Given the description of an element on the screen output the (x, y) to click on. 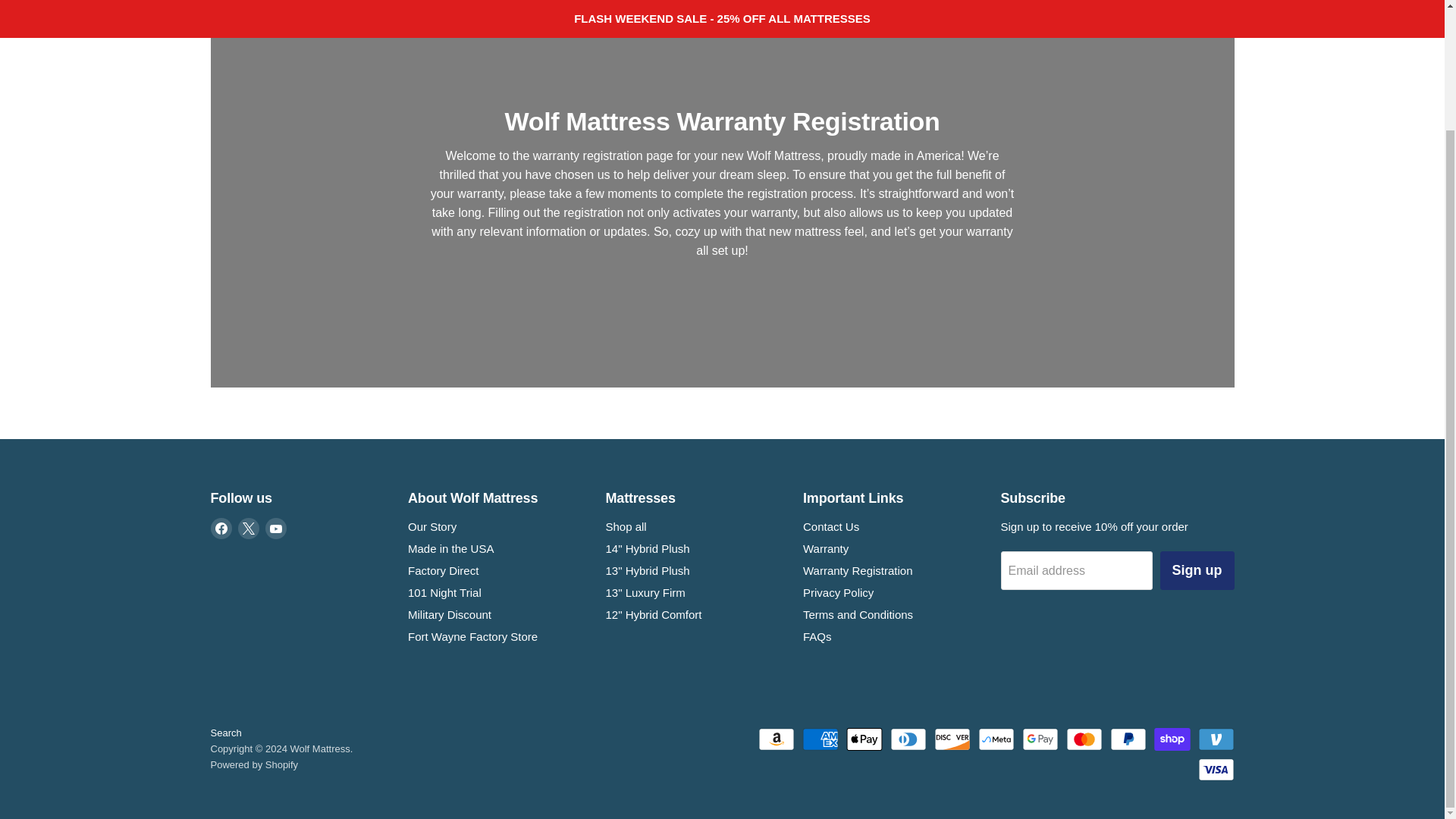
Meta Pay (996, 739)
Facebook (221, 527)
YouTube (275, 527)
Apple Pay (863, 739)
Mastercard (1083, 739)
American Express (820, 739)
Shop Pay (1172, 739)
X (248, 527)
Discover (952, 739)
Google Pay (1040, 739)
Venmo (1216, 739)
Diners Club (907, 739)
Amazon (776, 739)
Visa (1216, 769)
PayPal (1128, 739)
